Given the description of an element on the screen output the (x, y) to click on. 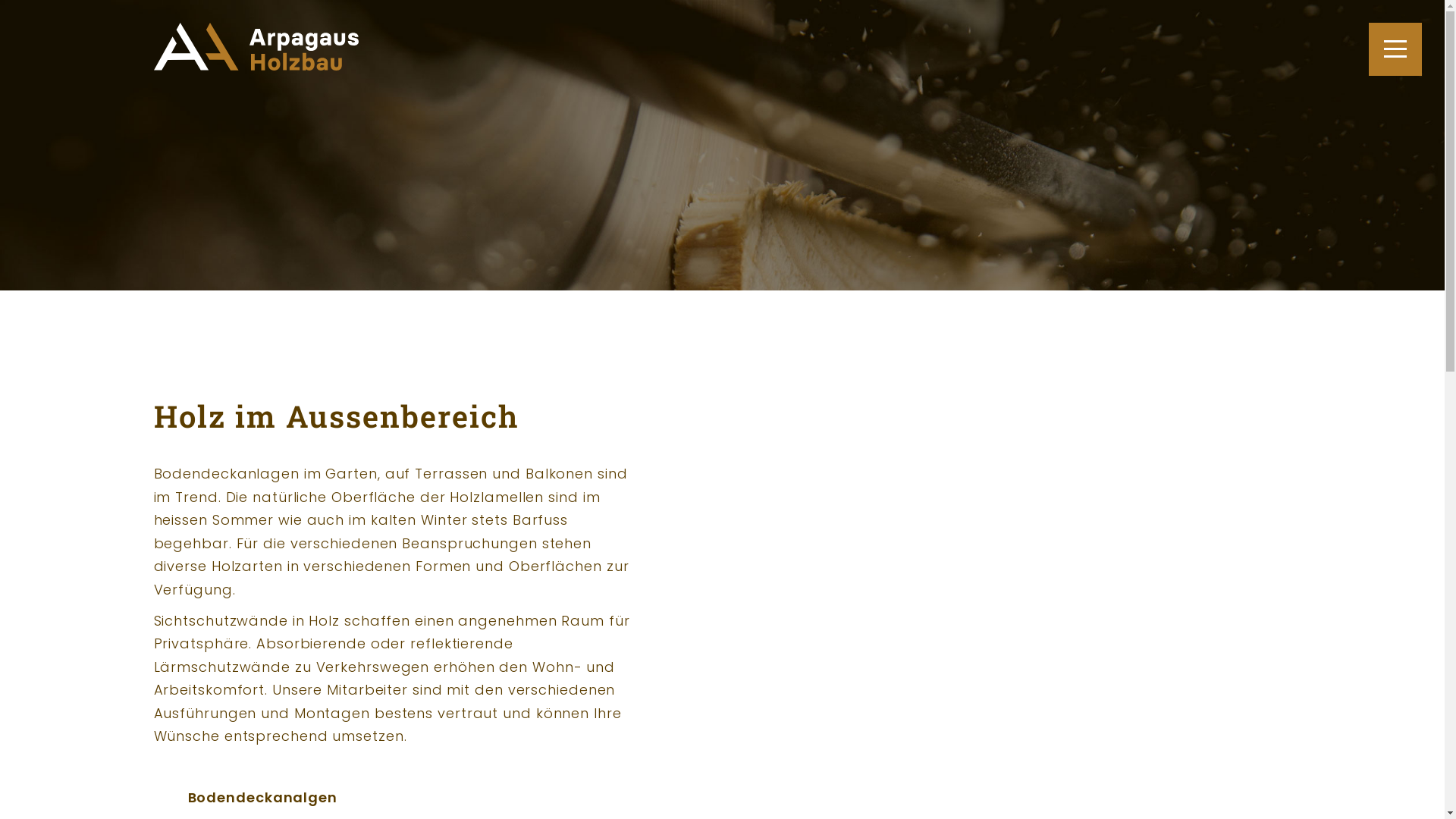
holz-im-aussenbereich-02 Element type: text (757, 387)
holz-im-aussenbereich-01 Element type: text (741, 387)
